Given the description of an element on the screen output the (x, y) to click on. 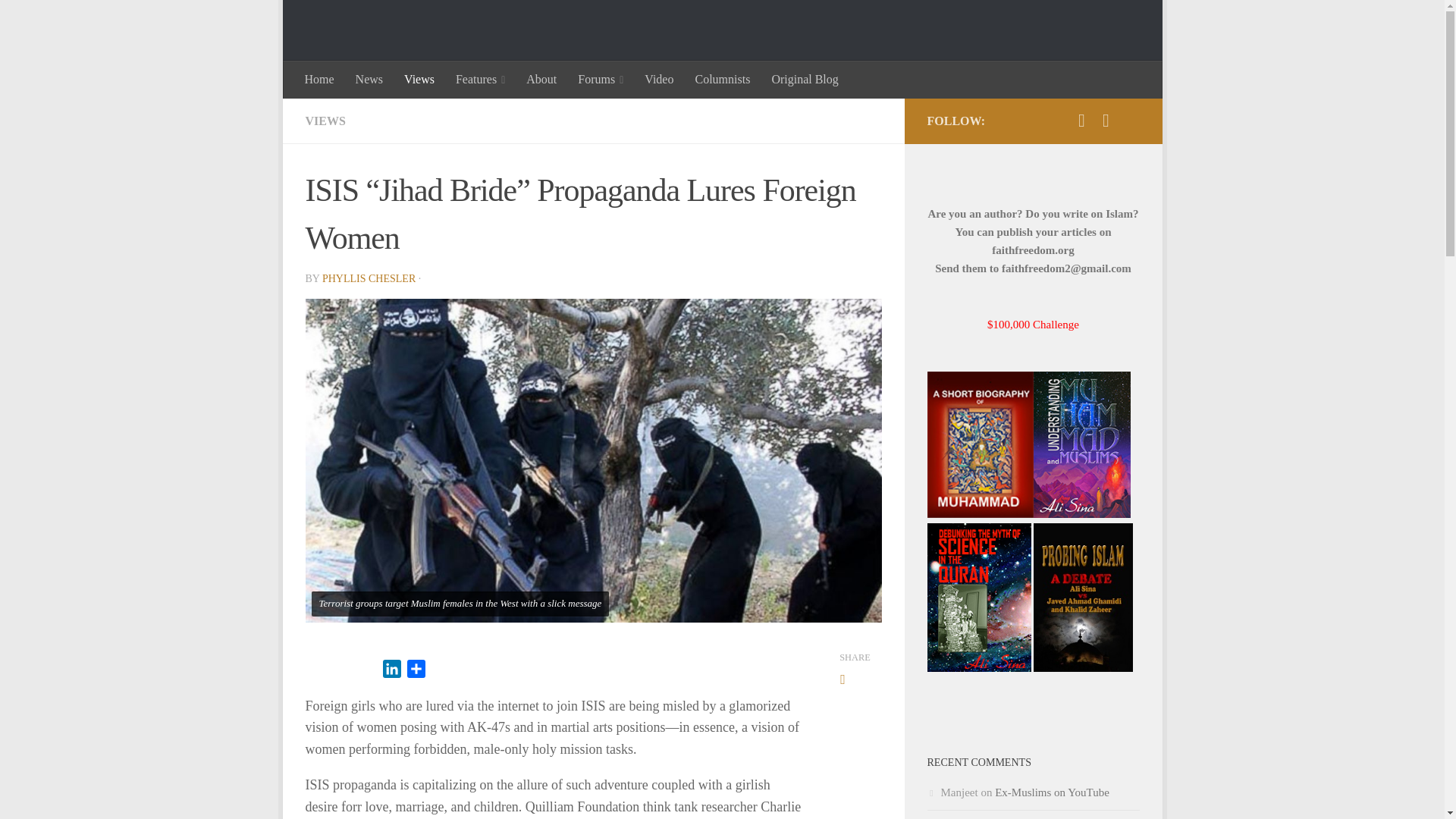
Facebook (1105, 120)
Twitter (1080, 120)
About (541, 79)
Views (419, 79)
Forums (600, 79)
Features (480, 79)
Home (319, 79)
Posts by Phyllis Chesler (367, 278)
Skip to content (341, 20)
News (369, 79)
